Given the description of an element on the screen output the (x, y) to click on. 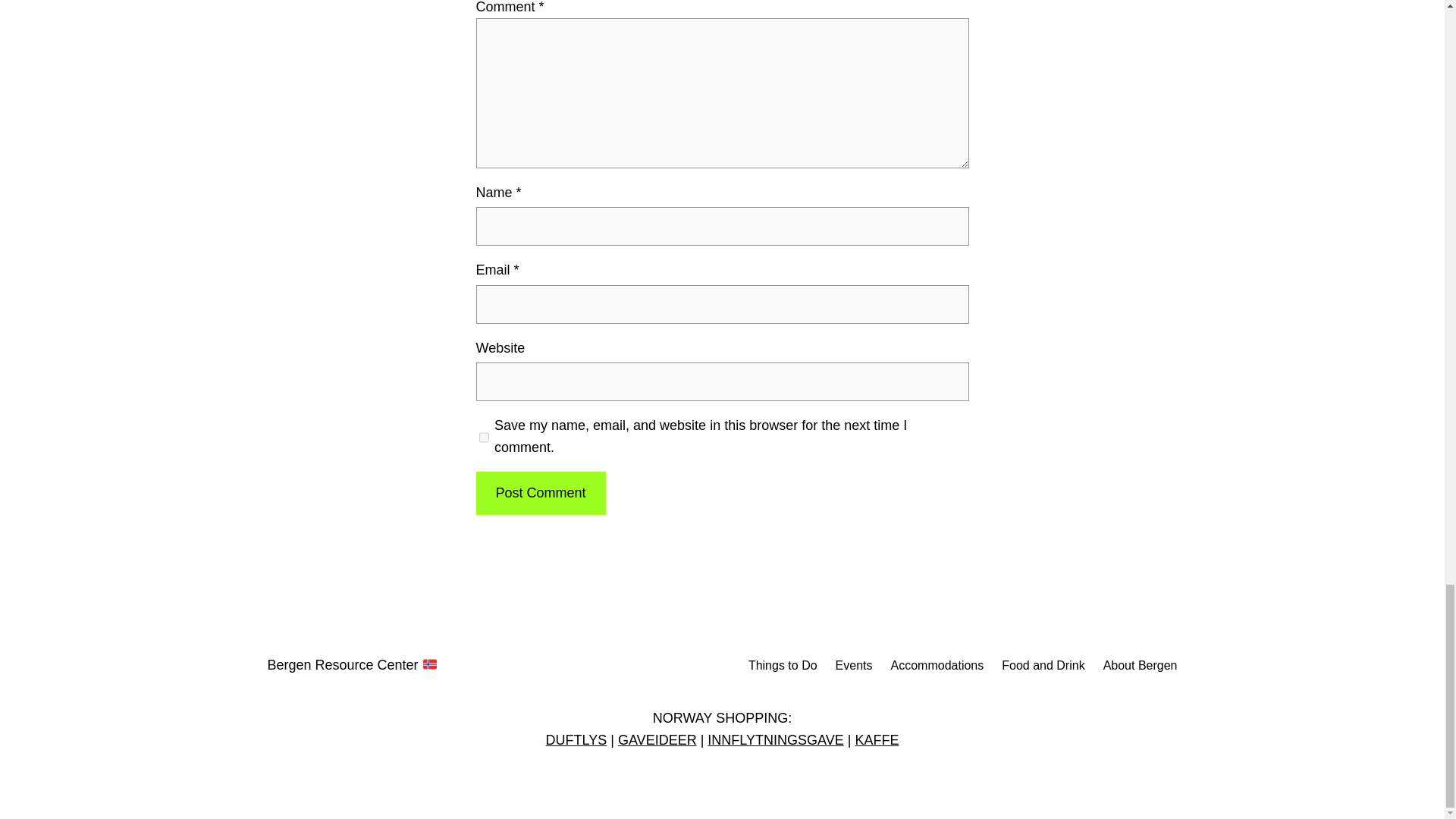
Things to Do (782, 665)
Events (853, 665)
Accommodations (937, 665)
Post Comment (540, 493)
Bergen Resource Center (352, 664)
KAFFE (876, 739)
Post Comment (540, 493)
GAVEIDEER (657, 739)
About Bergen (1140, 665)
INNFLYTNINGSGAVE (775, 739)
Food and Drink (1042, 665)
DUFTLYS (576, 739)
